Given the description of an element on the screen output the (x, y) to click on. 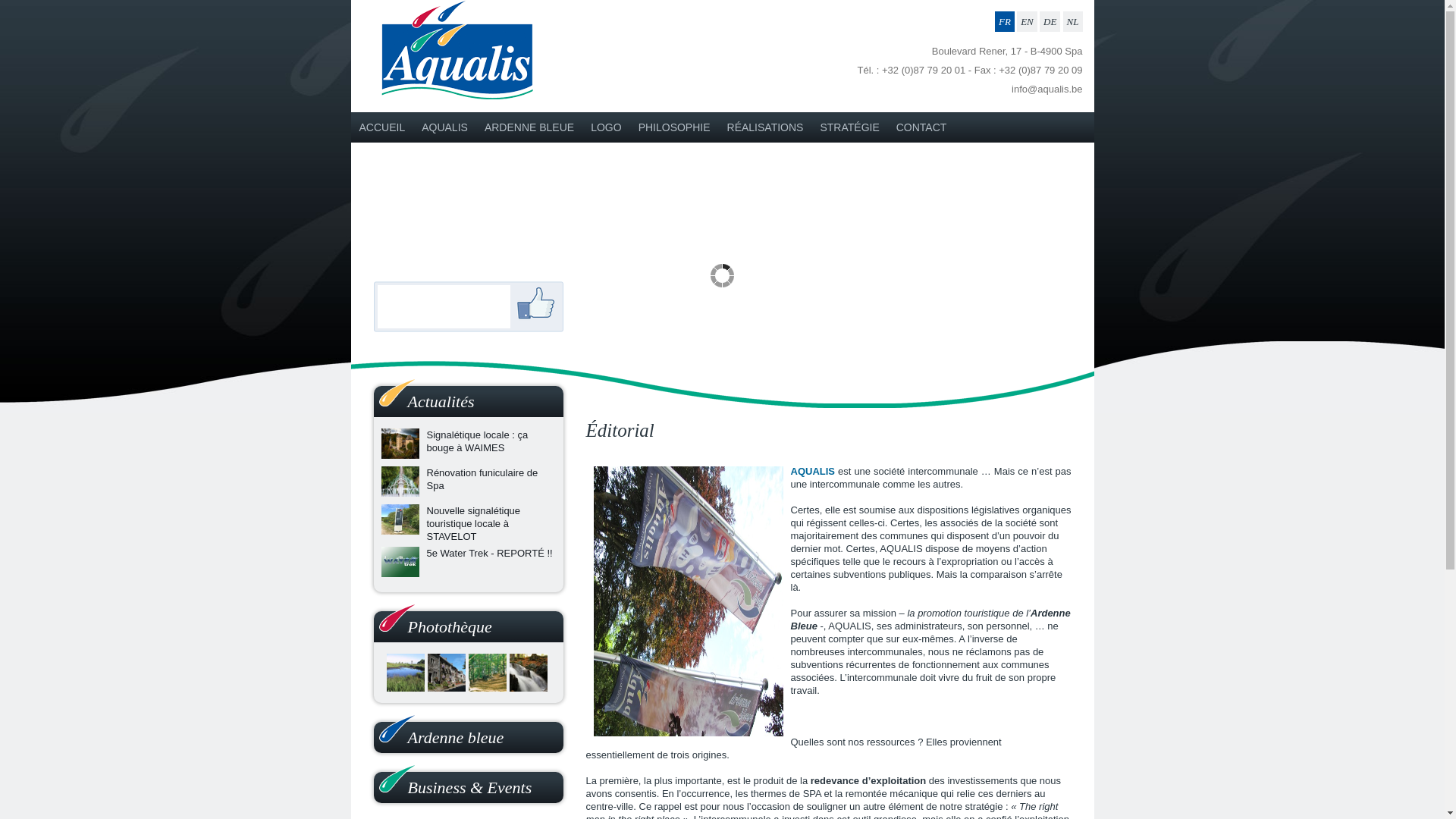
NL Element type: text (1072, 21)
FR Element type: text (1004, 21)
DE Element type: text (1049, 21)
ARDENNE BLEUE Element type: text (529, 127)
AQUALIS Element type: text (444, 127)
Ardenne bleue Element type: text (455, 737)
EN Element type: text (1026, 21)
ACCUEIL Element type: text (381, 127)
LOGO Element type: text (605, 127)
PHILOSOPHIE Element type: text (674, 127)
CONTACT Element type: text (921, 127)
Business & Events Element type: text (469, 787)
